Given the description of an element on the screen output the (x, y) to click on. 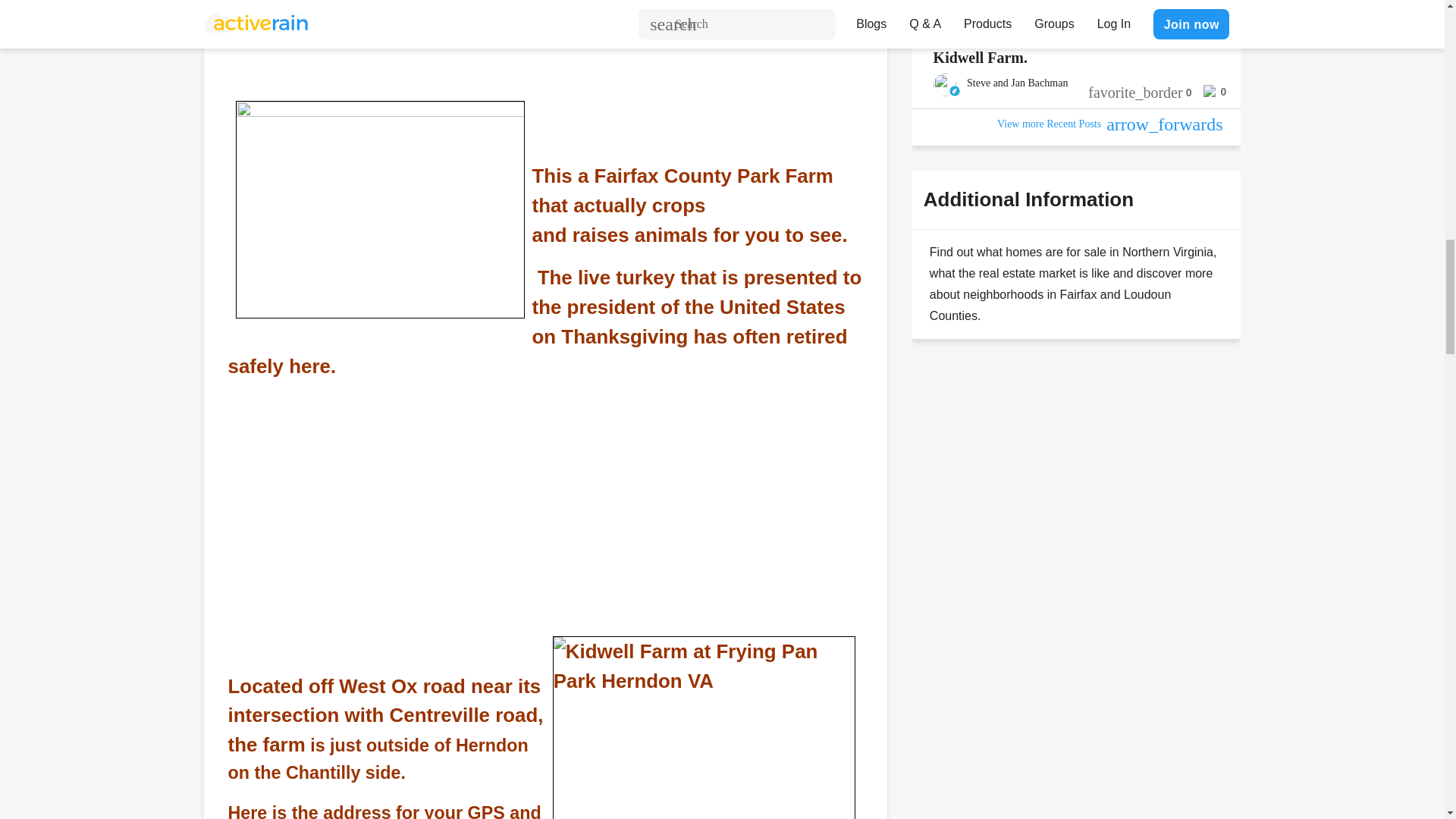
Kidwell Farm at Frying Pan Park Herndon VA (704, 727)
